Given the description of an element on the screen output the (x, y) to click on. 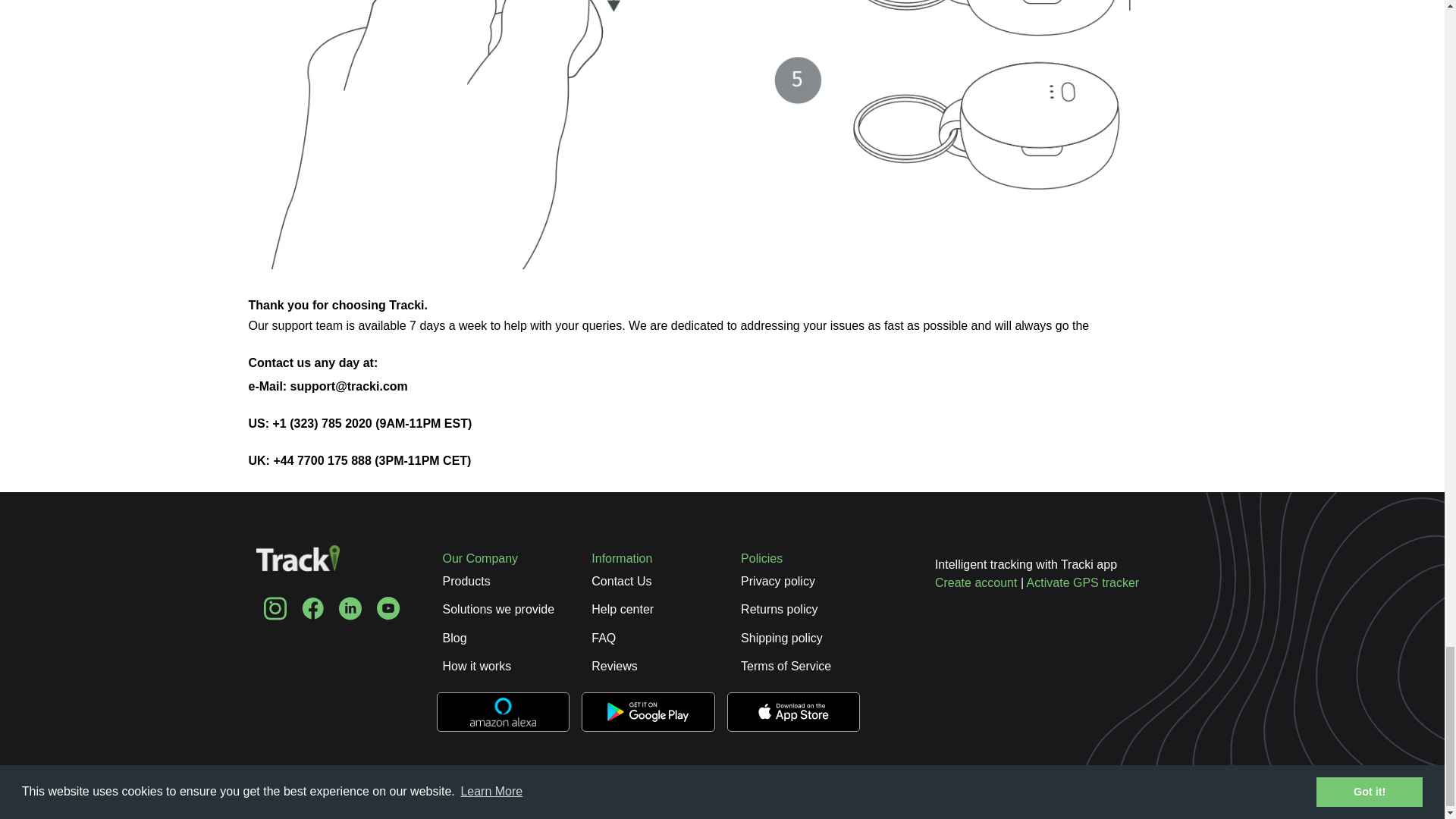
How it works (477, 666)
Help center (622, 608)
FAQ (603, 637)
Contact Us (620, 581)
Shipping policy (781, 637)
Products (466, 581)
Blog (454, 637)
Solutions we provide (498, 608)
Privacy policy (778, 581)
Returns policy (778, 608)
tracki white logo (297, 569)
Reviews (614, 666)
